Given the description of an element on the screen output the (x, y) to click on. 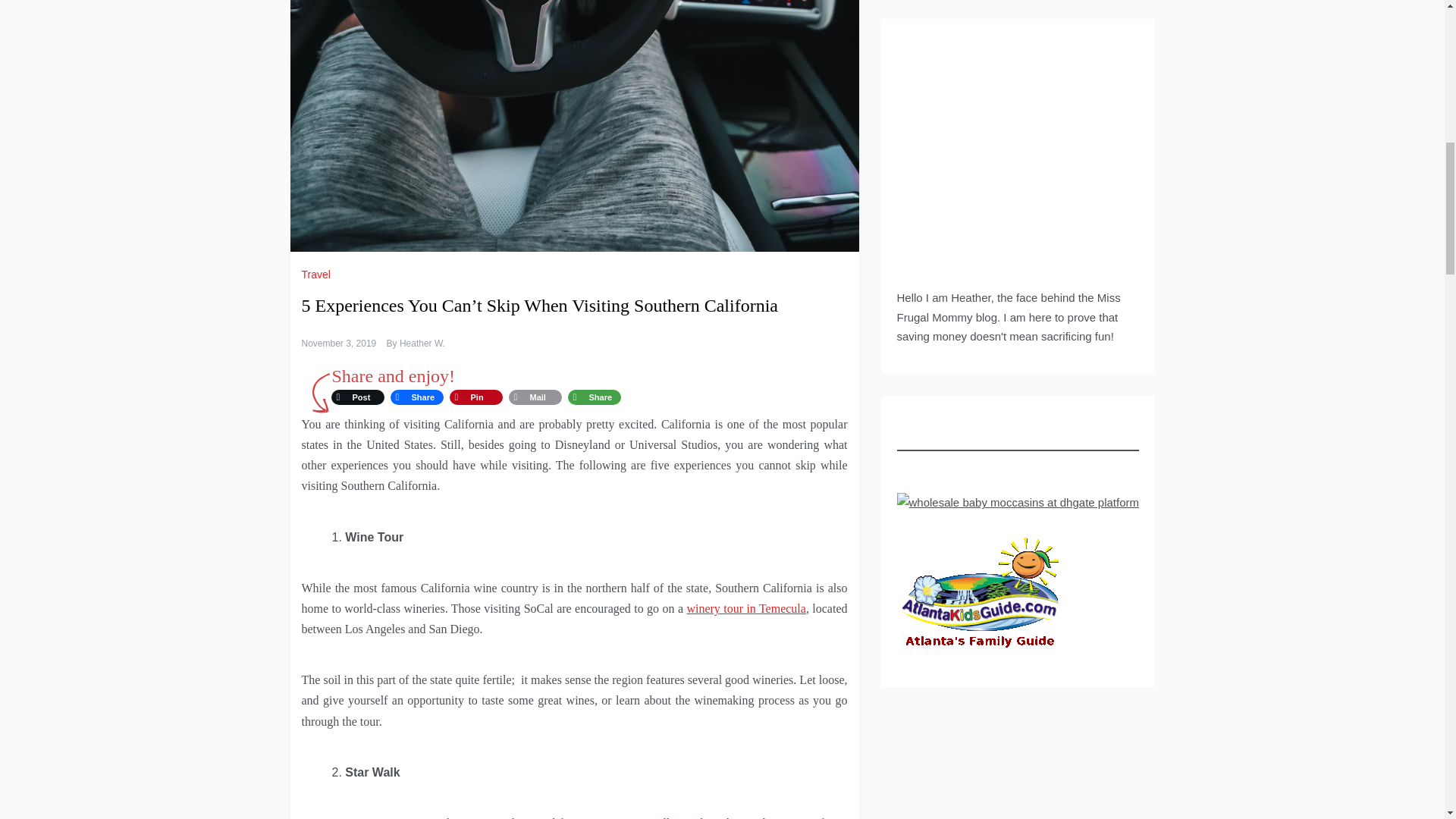
November 3, 2019 (339, 343)
Email This (534, 396)
winery tour in Temecula (745, 608)
Facebook (416, 396)
Travel (317, 274)
Heather W. (421, 343)
More Options (593, 396)
visiting Hollywood (655, 817)
Pinterest (475, 396)
